Given the description of an element on the screen output the (x, y) to click on. 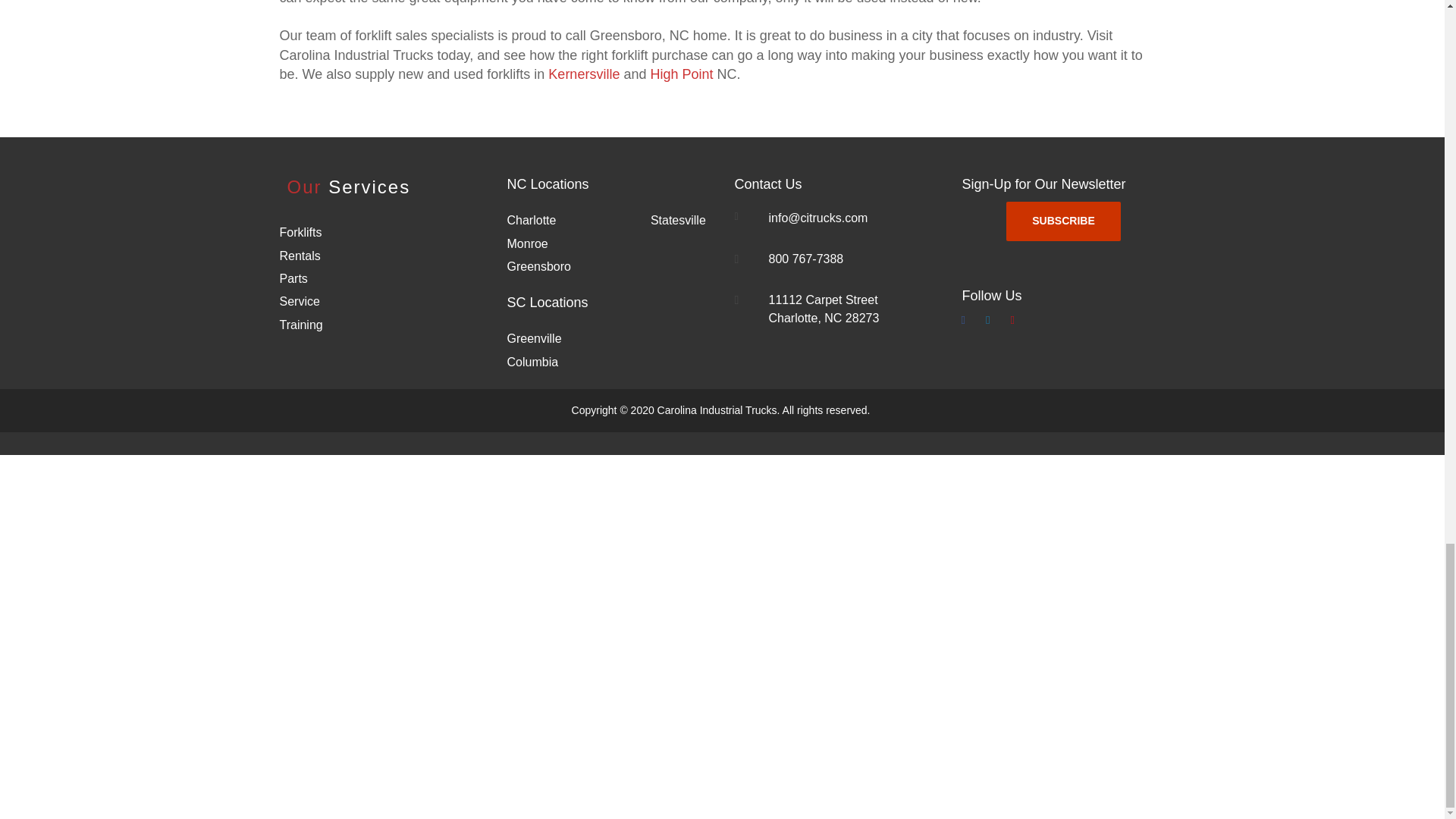
Service (298, 300)
Training (300, 324)
High Point (681, 73)
Charlotte (531, 219)
Monroe (526, 243)
Greenville (533, 338)
Columbia (531, 361)
SUBSCRIBE (1062, 220)
Rentals (299, 255)
800 767-7388  (807, 258)
Greensboro (538, 266)
Statesville (678, 219)
Parts (293, 278)
Forklifts (300, 232)
Kernersville (584, 73)
